Given the description of an element on the screen output the (x, y) to click on. 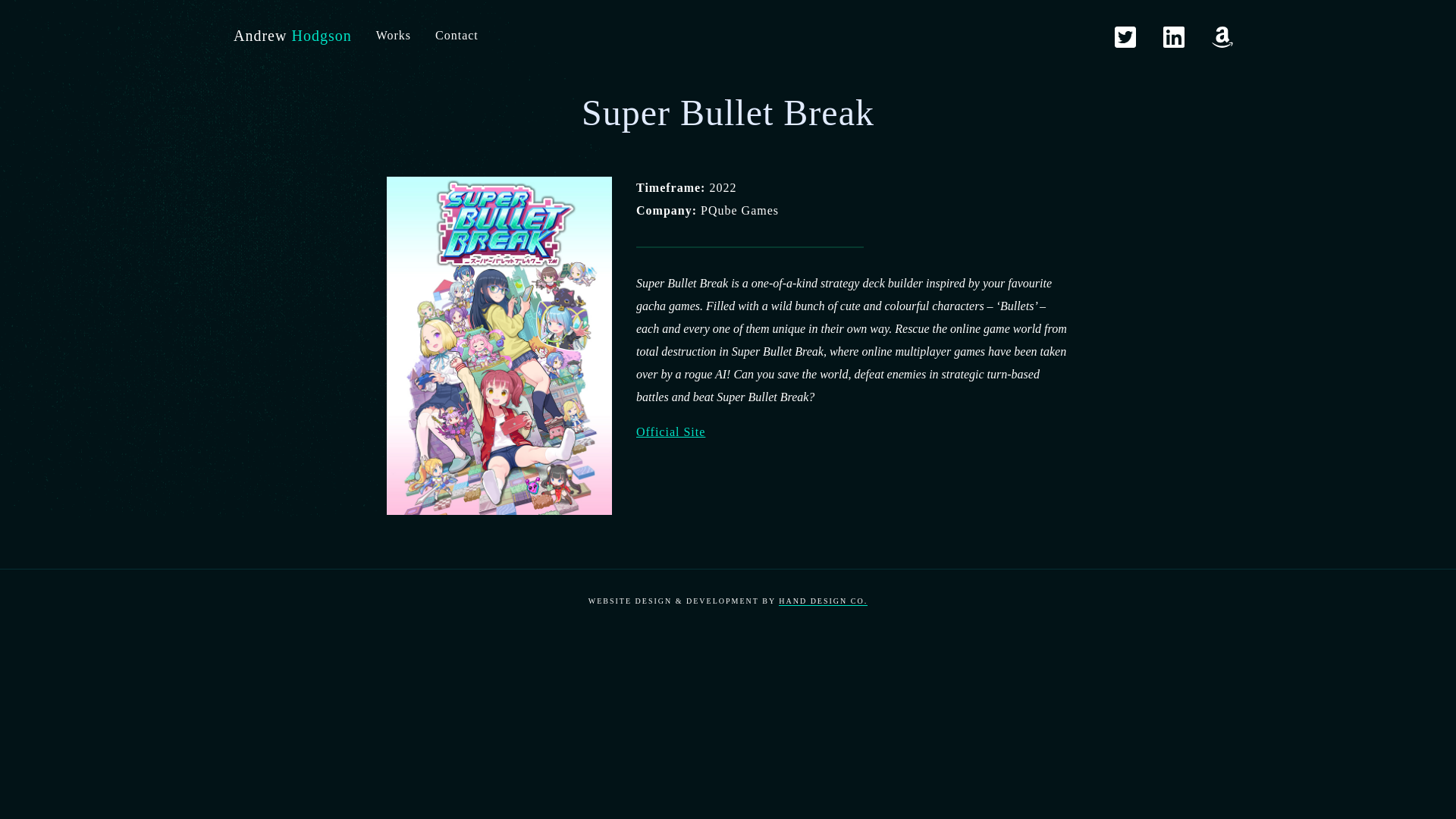
Twitter (1125, 36)
Contact (456, 36)
Works (393, 36)
Andrew Hodgson (292, 36)
HAND DESIGN CO. (822, 600)
LinkedIn (1173, 36)
Amazon (1221, 36)
Official Site (670, 431)
